Given the description of an element on the screen output the (x, y) to click on. 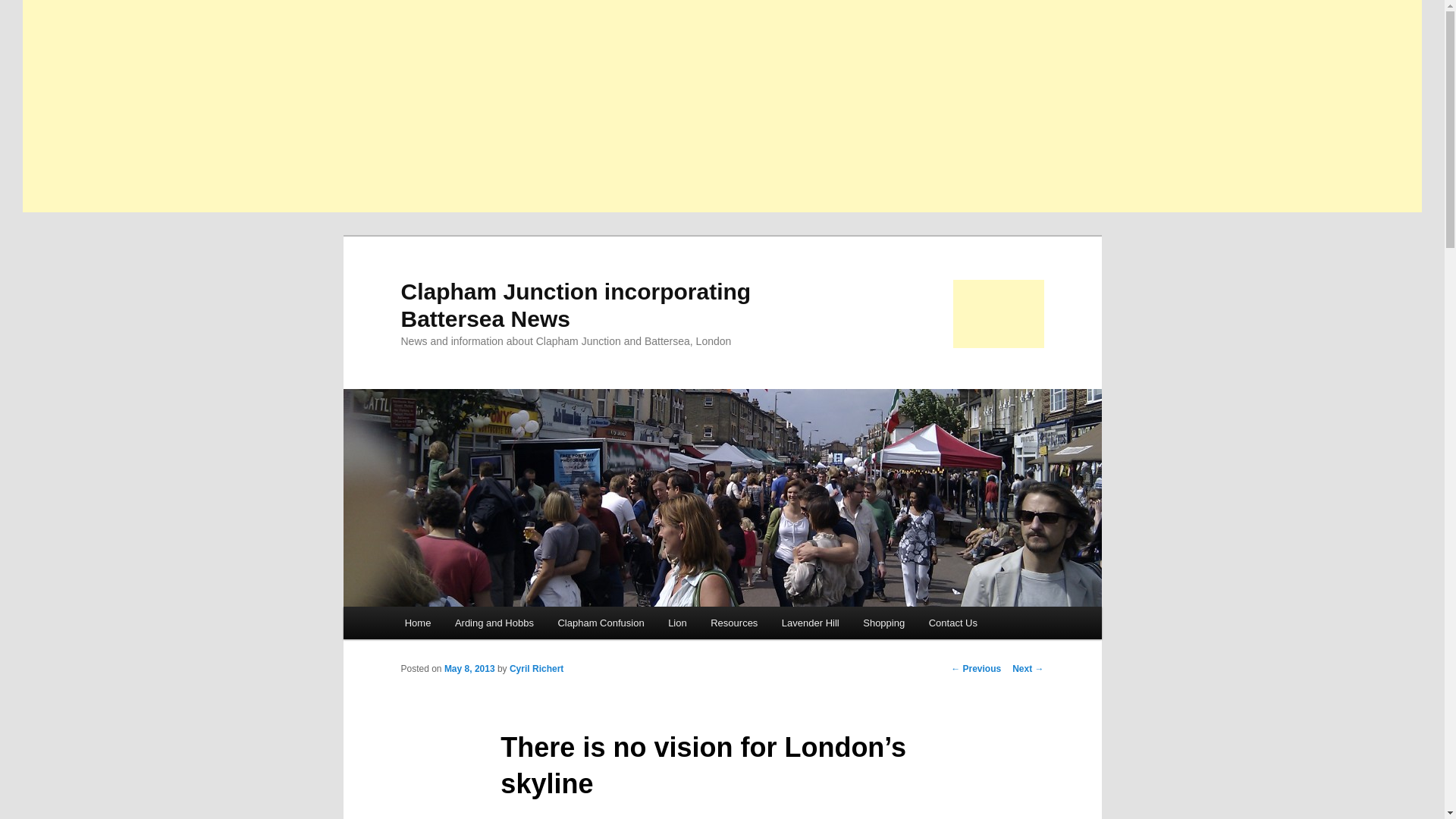
Shopping (882, 622)
Resources (734, 622)
Cyril Richert (536, 668)
View all posts by Cyril Richert (536, 668)
Lavender Hill (810, 622)
Clapham Junction incorporating Battersea News (575, 305)
Advertisement (997, 314)
9:04 am (469, 668)
Contact Us (953, 622)
